Given the description of an element on the screen output the (x, y) to click on. 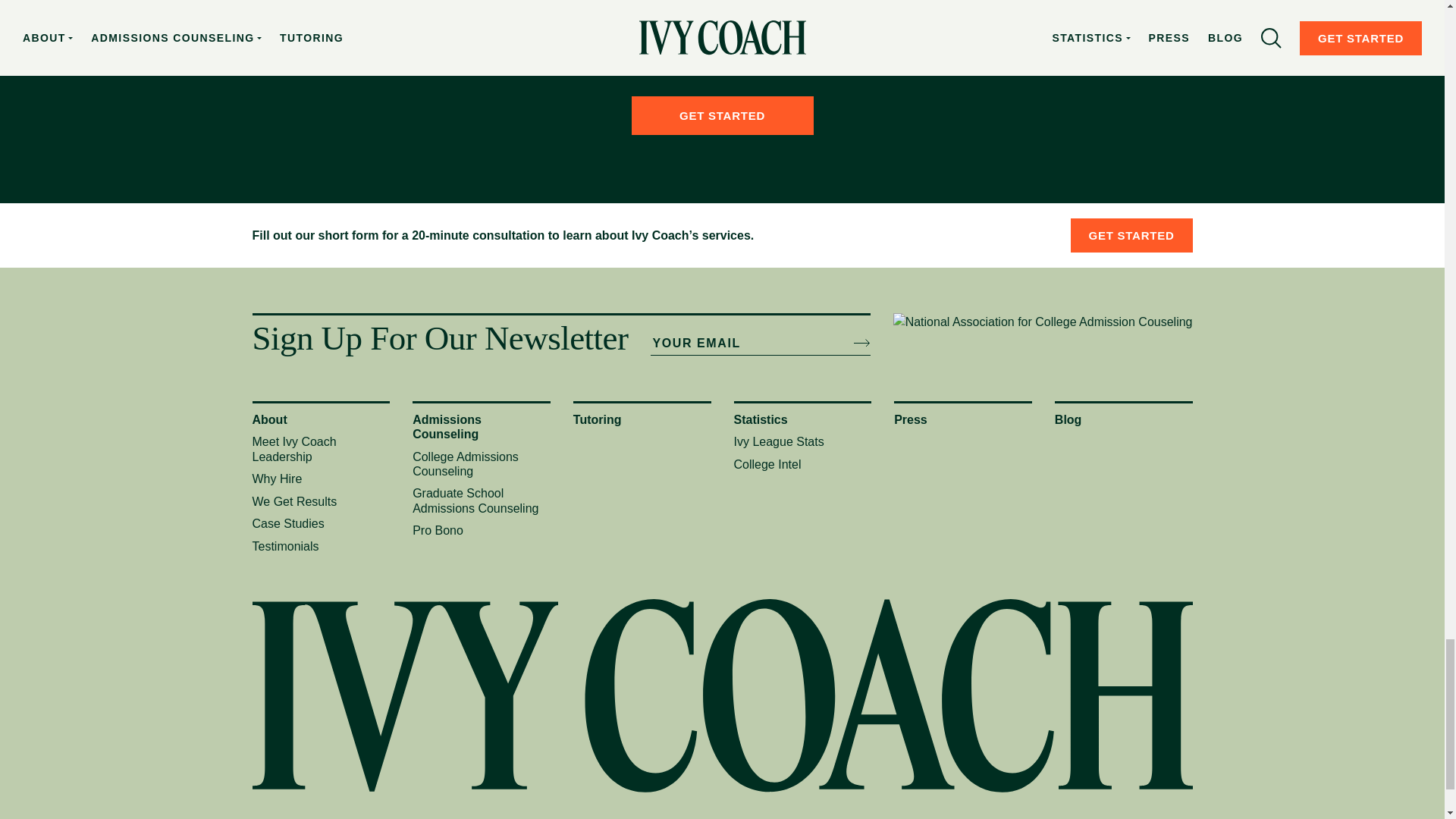
Meet Ivy Coach Leadership (293, 448)
GET STARTED (721, 115)
Why Hire (276, 478)
About (268, 419)
